Given the description of an element on the screen output the (x, y) to click on. 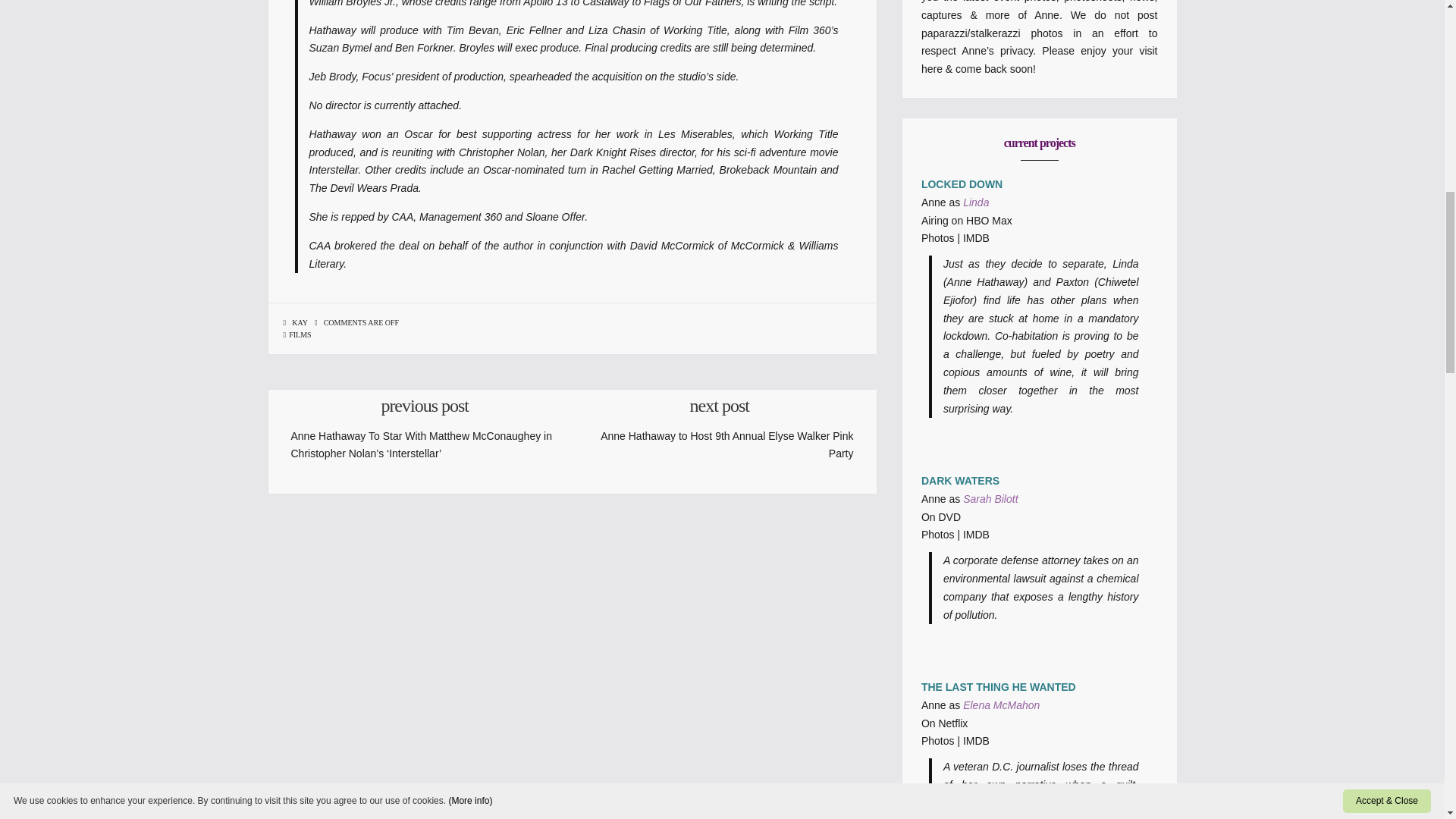
Photos (938, 237)
Photos (938, 534)
FILMS (297, 335)
IMDB (976, 534)
Anne Hathaway to Host 9th Annual Elyse Walker Pink Party (726, 444)
IMDB (976, 237)
IMDB (976, 740)
Photos (938, 740)
